Given the description of an element on the screen output the (x, y) to click on. 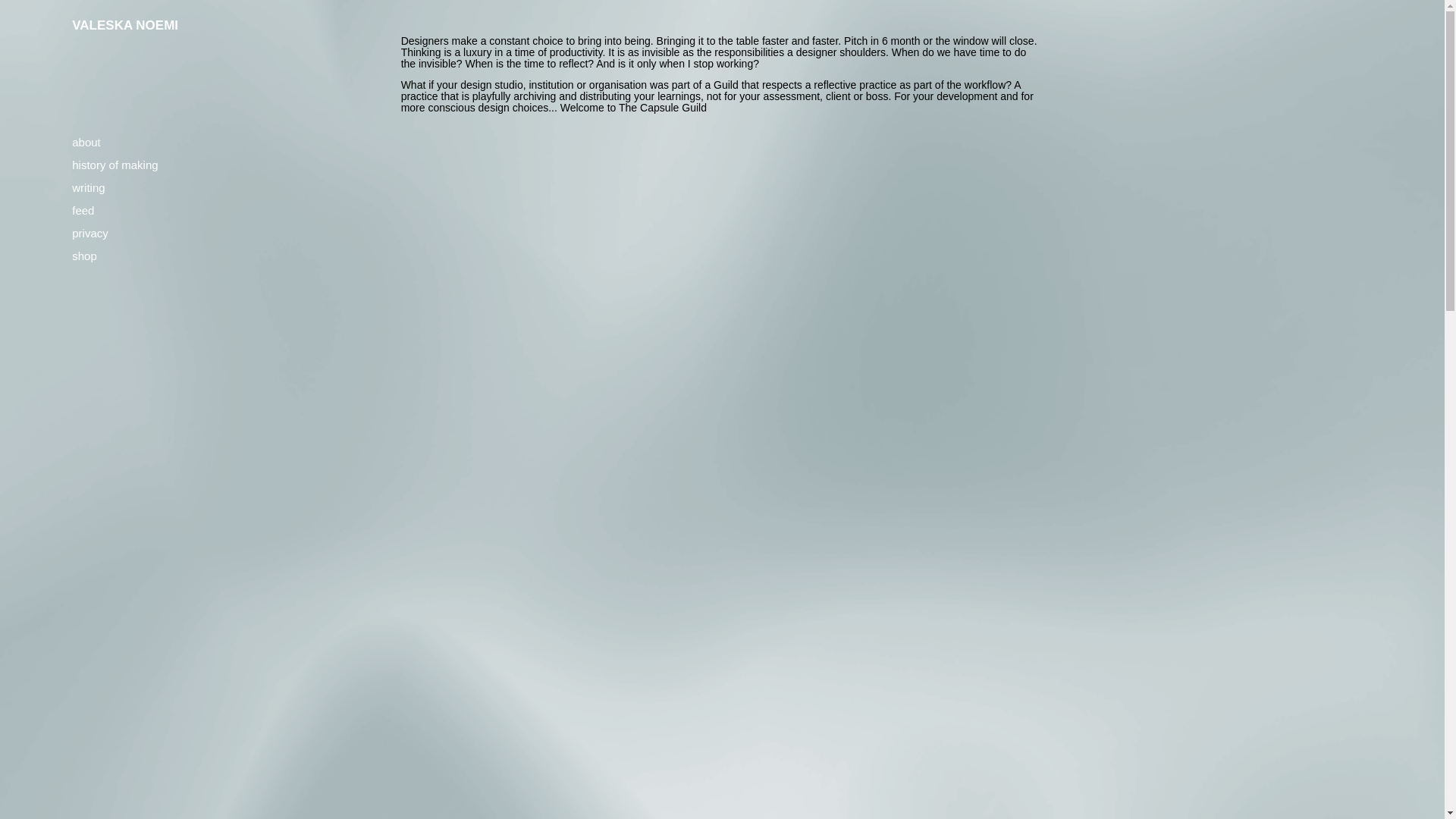
about (85, 141)
VALESKA NOEMI (124, 24)
privacy (89, 232)
feed (82, 210)
writing (87, 187)
shop (84, 255)
history of making (114, 164)
